Given the description of an element on the screen output the (x, y) to click on. 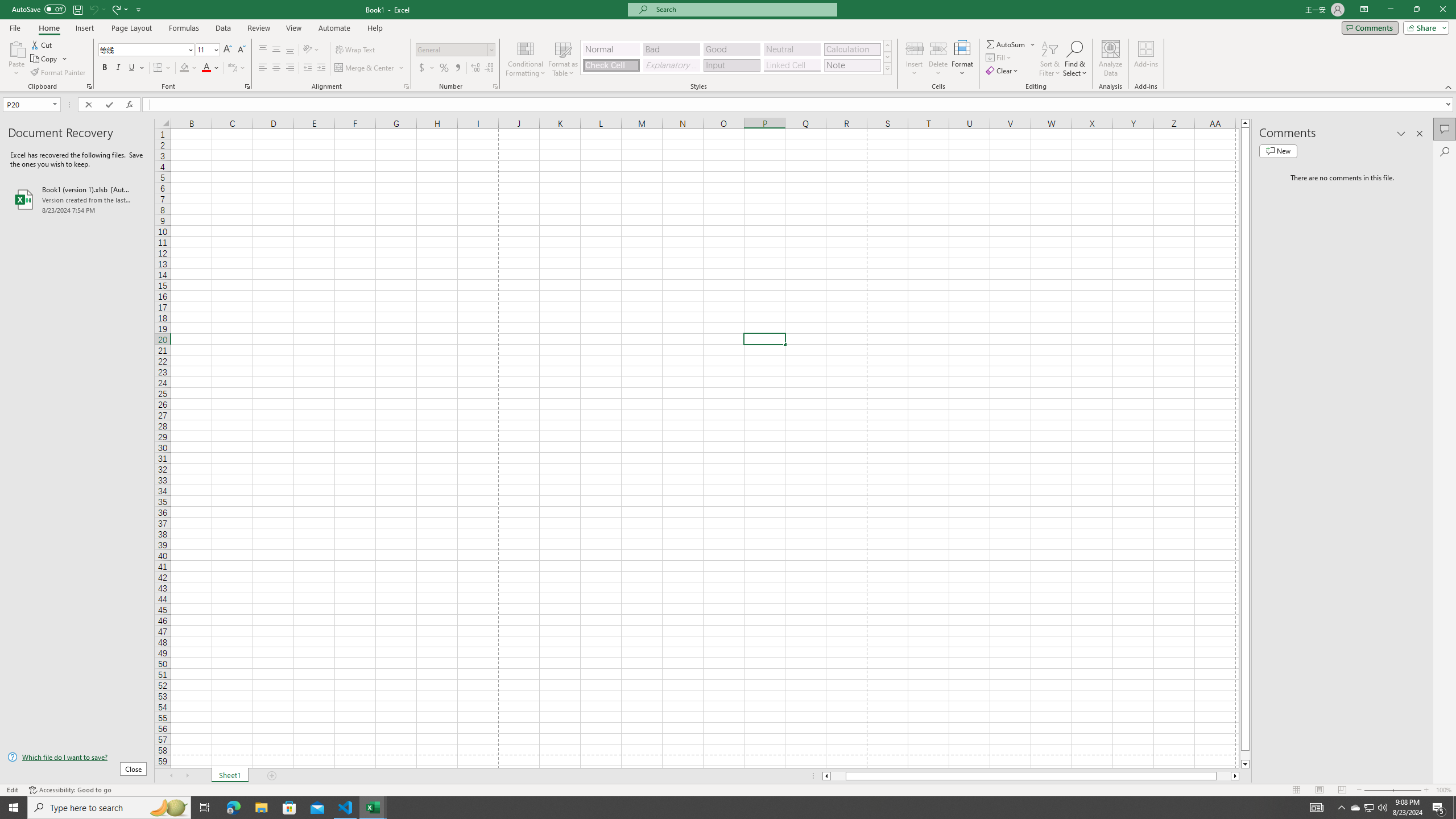
Orientation (311, 49)
New comment (1278, 151)
Bold (104, 67)
Bottom Align (290, 49)
Font Size (207, 49)
Zoom Out (1377, 790)
